Given the description of an element on the screen output the (x, y) to click on. 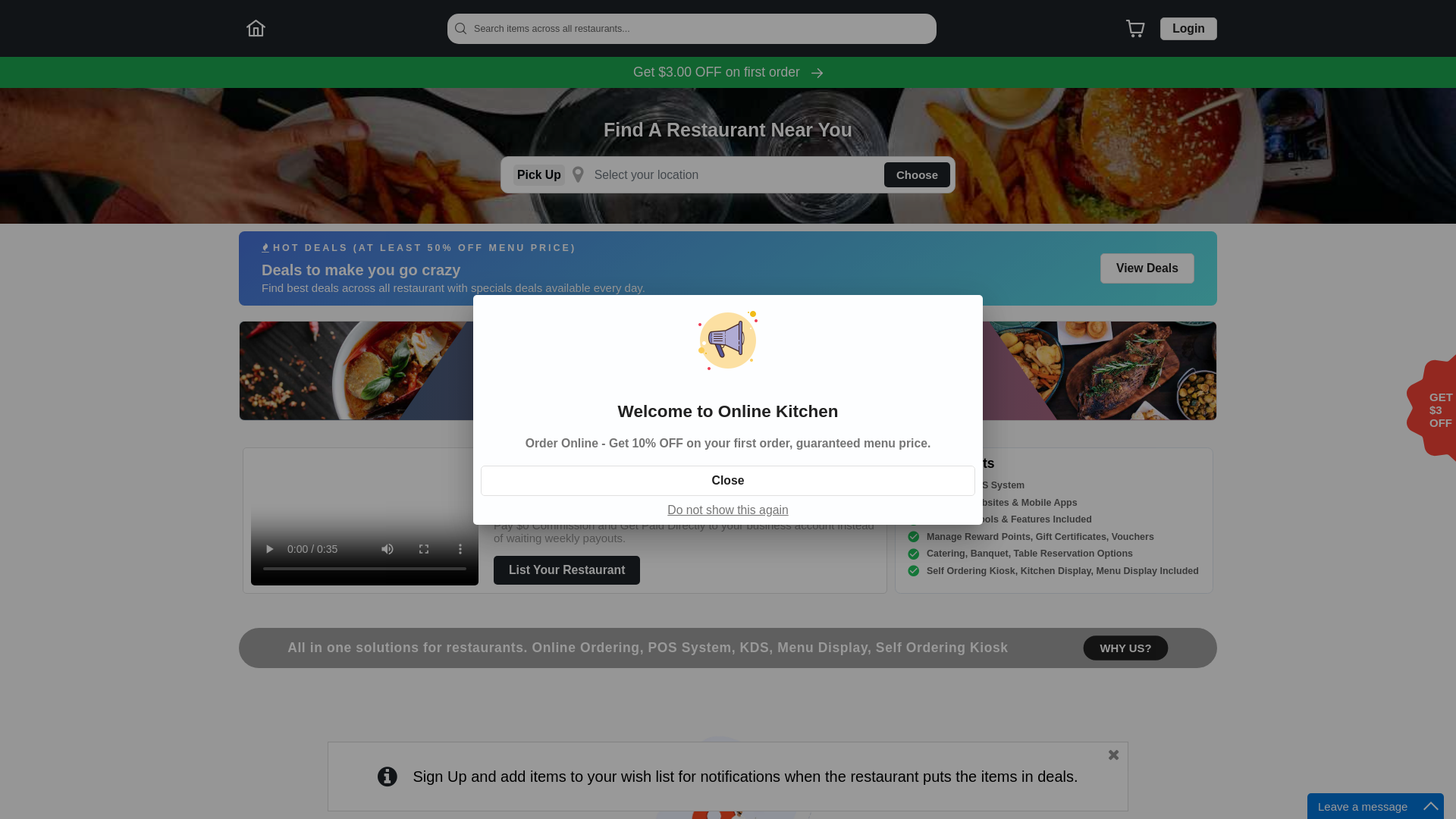
List Your Restaurant Element type: text (566, 569)
View Deals Element type: text (1147, 268)
Close Element type: text (727, 480)
Login Element type: text (1188, 27)
Maximize Element type: hover (1430, 806)
WHY US? Element type: text (1127, 647)
Choose Element type: text (917, 174)
